Given the description of an element on the screen output the (x, y) to click on. 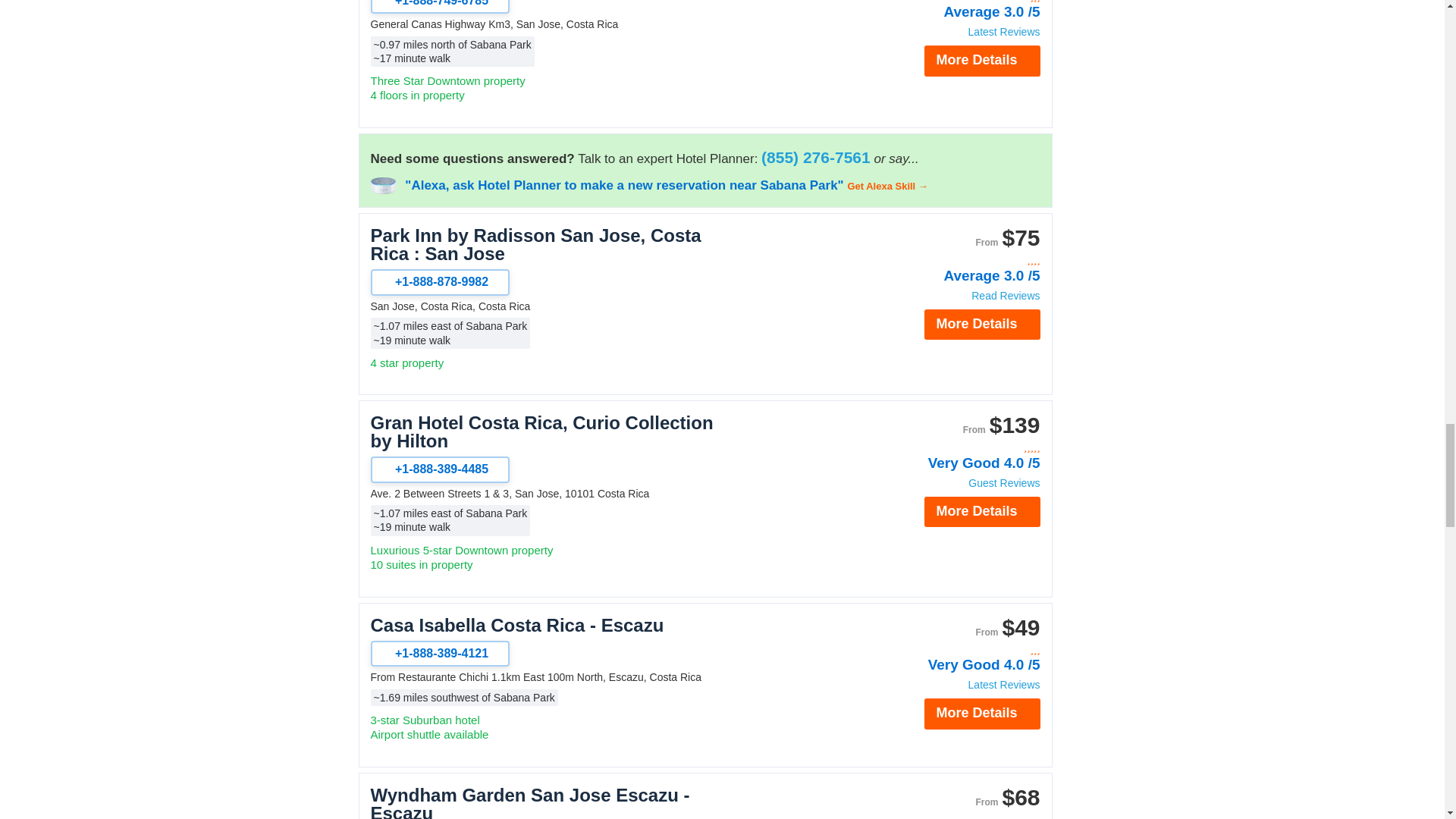
5 stars (958, 447)
4 stars (958, 259)
3 stars (958, 649)
3 stars (958, 2)
3 stars (958, 816)
